Given the description of an element on the screen output the (x, y) to click on. 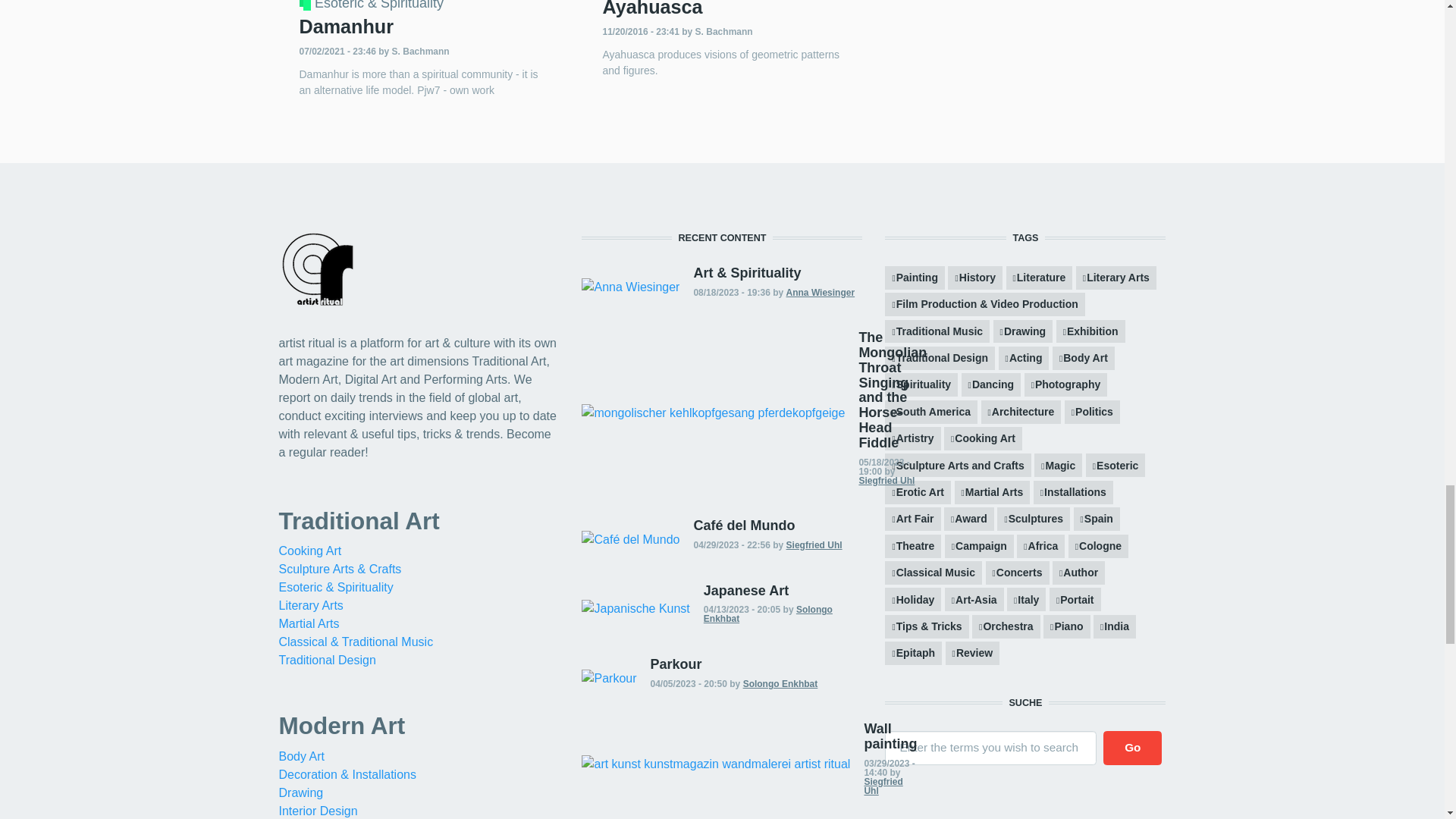
Go (1132, 747)
